Given the description of an element on the screen output the (x, y) to click on. 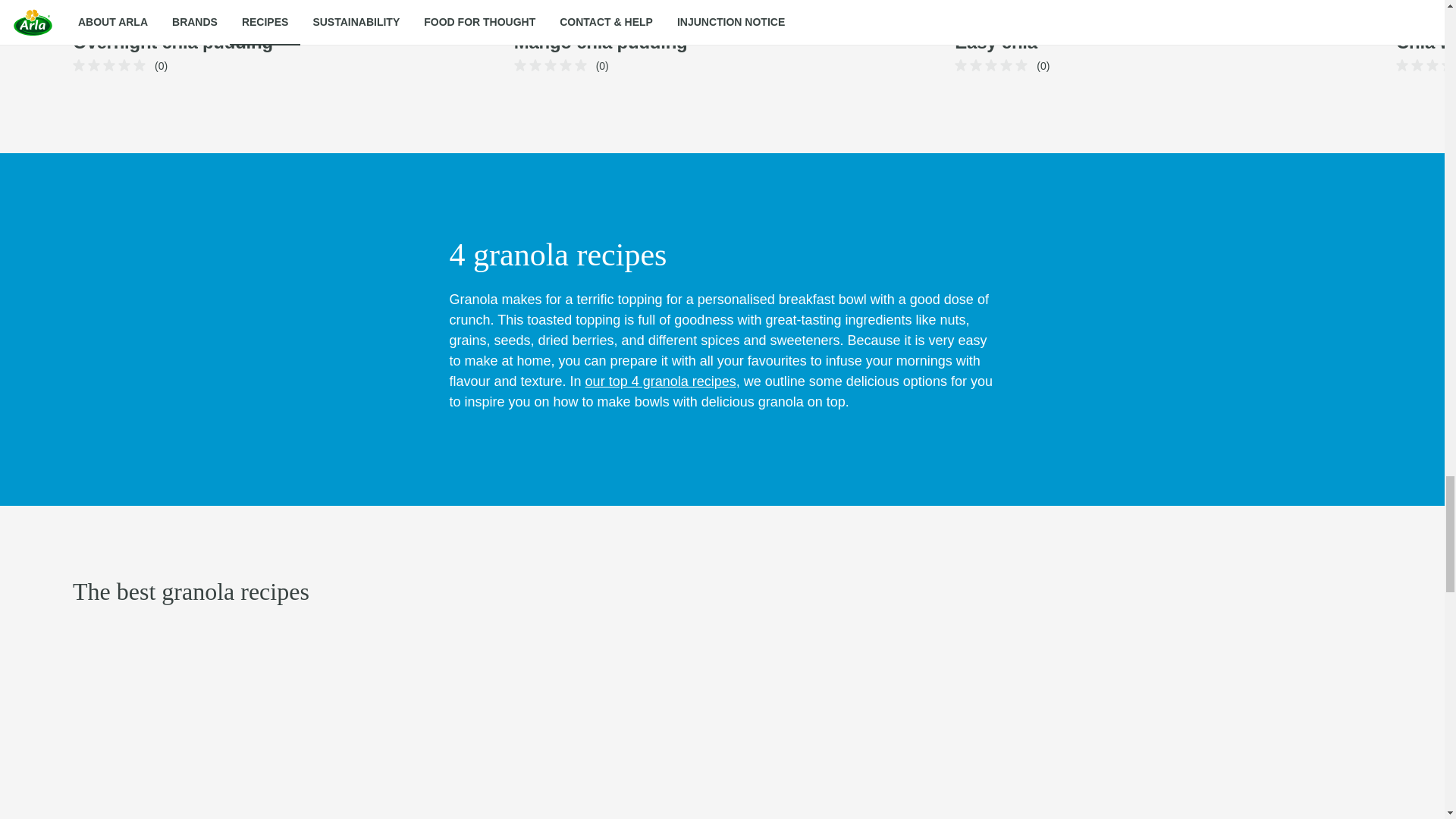
our top 4 granola recipes (660, 381)
